Given the description of an element on the screen output the (x, y) to click on. 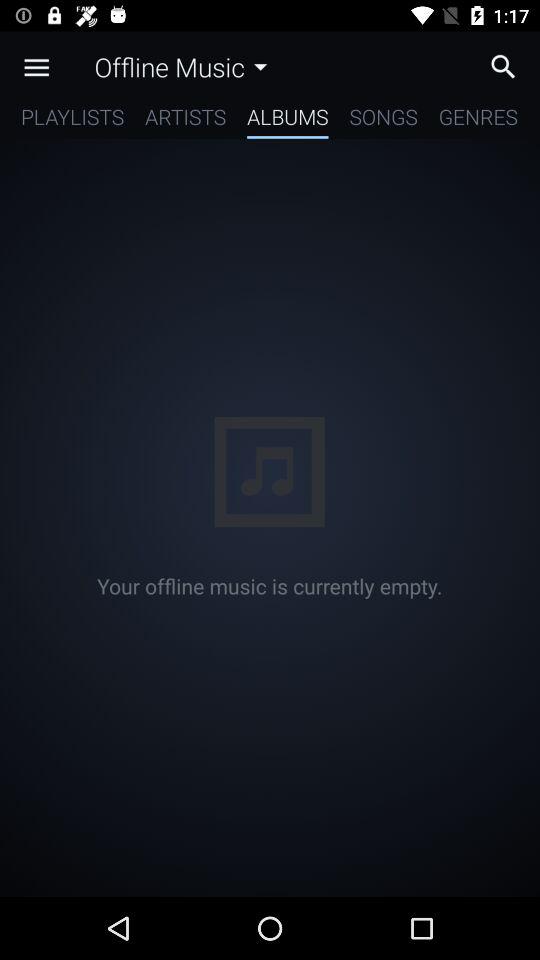
turn on app above playlists app (36, 67)
